Given the description of an element on the screen output the (x, y) to click on. 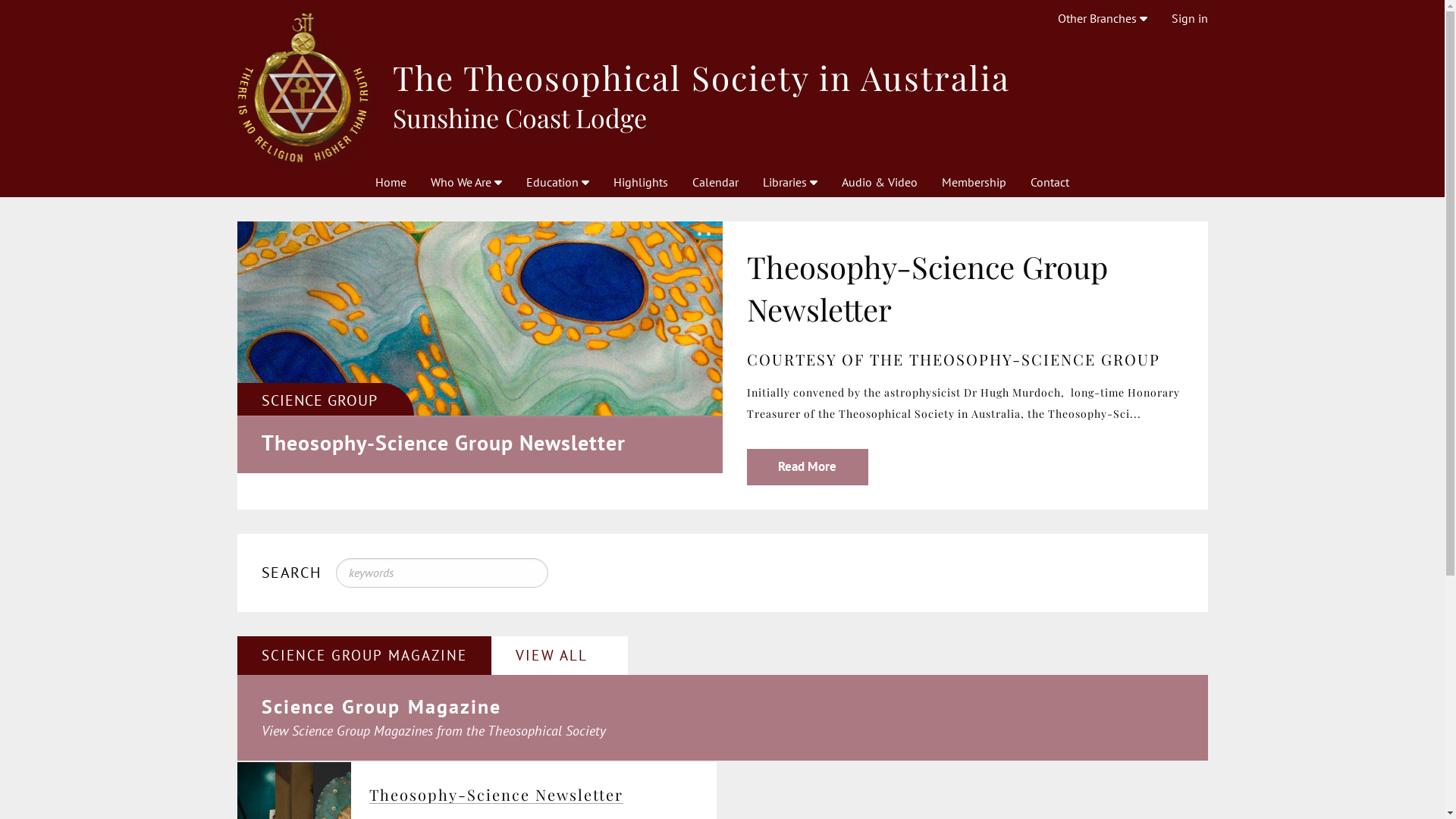
Audio & Video Element type: text (879, 181)
Sign in Element type: text (1188, 18)
Who We Are Element type: text (466, 181)
Calendar Element type: text (715, 181)
VIEW ALL Element type: text (559, 655)
Home Element type: text (390, 181)
Highlights Element type: text (640, 181)
SCIENCE GROUP MAGAZINE Element type: text (363, 655)
Read More Element type: text (806, 466)
Libraries Element type: text (789, 181)
Membership Element type: text (973, 181)
Contact Element type: text (1049, 181)
The Theosophical
Society in Australia
Sunshine Coast Lodge Element type: text (721, 87)
Other Branches Element type: text (1101, 18)
Education Element type: text (557, 181)
